Given the description of an element on the screen output the (x, y) to click on. 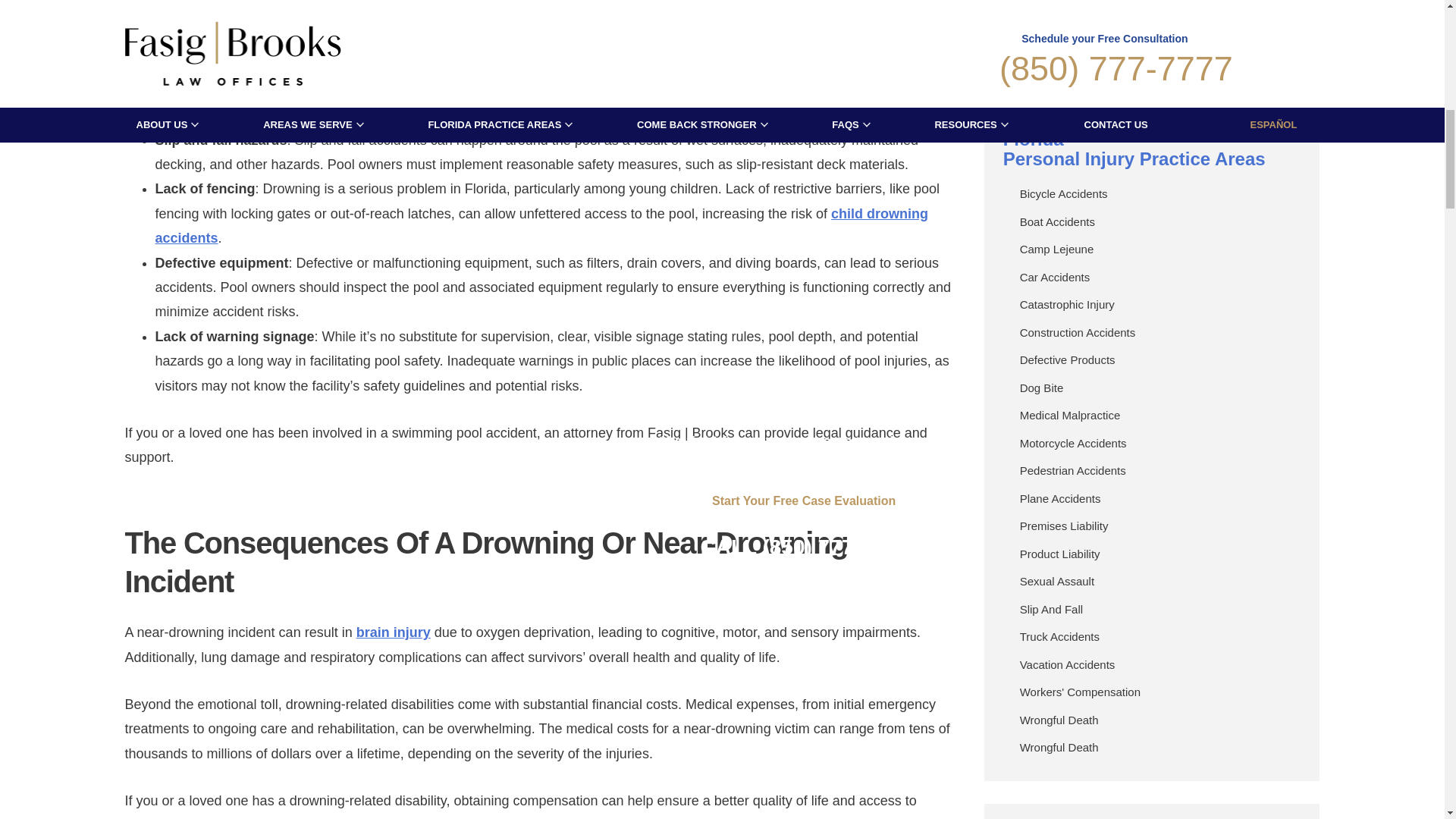
SEND MESSAGE (1151, 53)
